Given the description of an element on the screen output the (x, y) to click on. 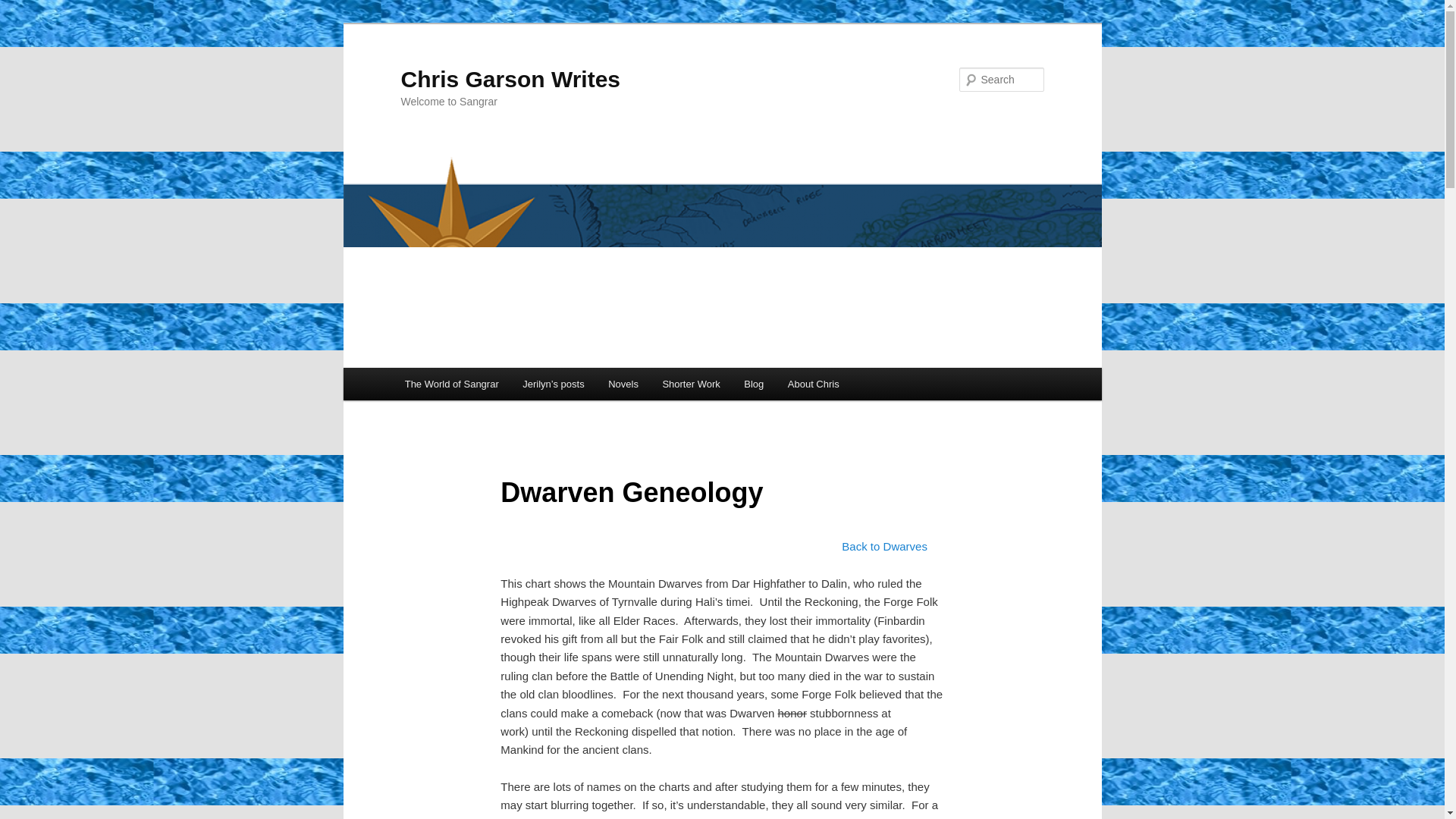
The World of Sangrar (452, 383)
Search (24, 8)
Chris Garson Writes (510, 78)
Dwarves (884, 545)
